Given the description of an element on the screen output the (x, y) to click on. 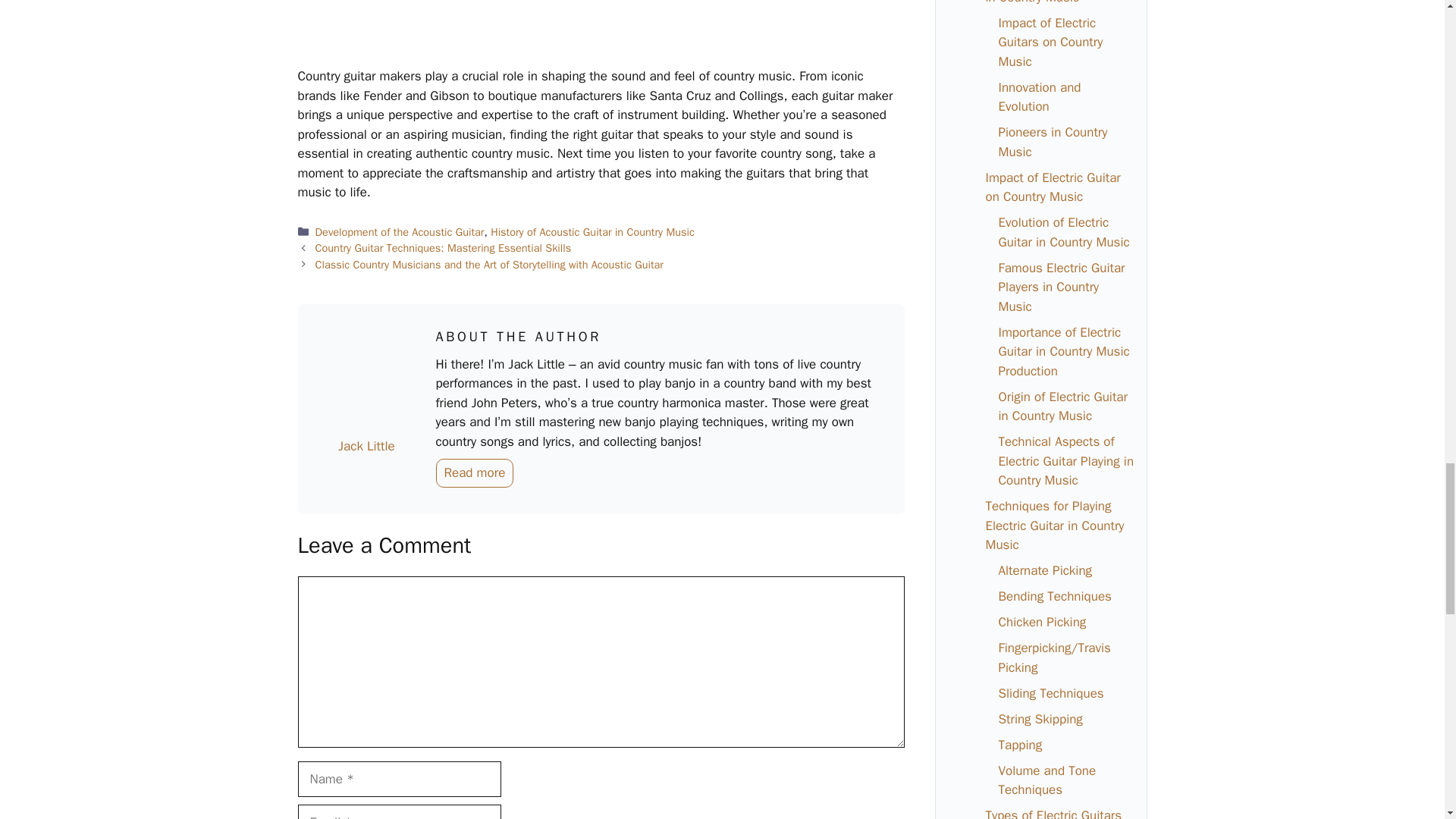
History of Acoustic Guitar in Country Music (592, 232)
Country Guitar Techniques: Mastering Essential Skills (443, 247)
Read more (474, 472)
Development of the Acoustic Guitar (399, 232)
Jack Little (365, 446)
